Given the description of an element on the screen output the (x, y) to click on. 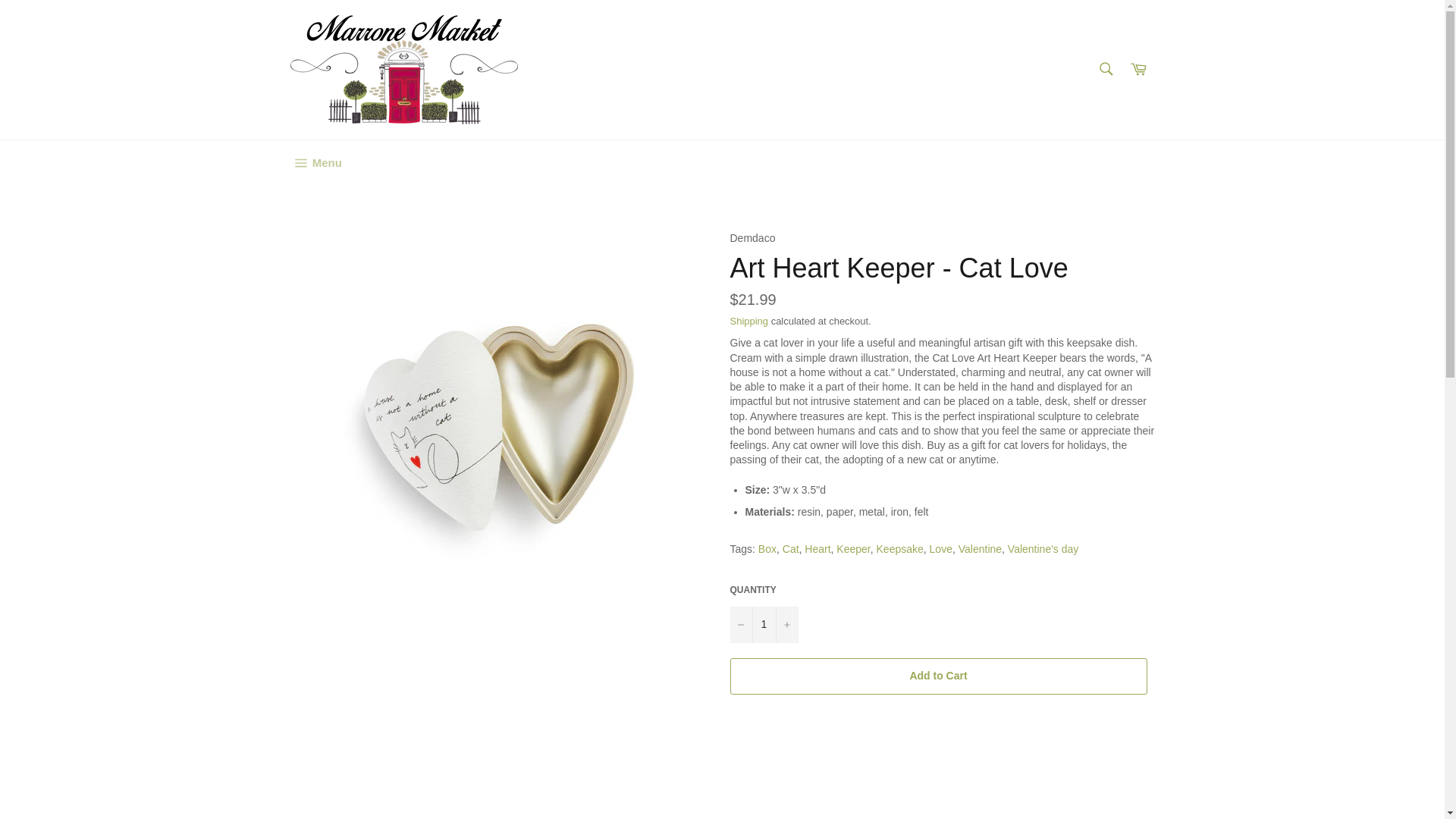
1 (763, 624)
